Given the description of an element on the screen output the (x, y) to click on. 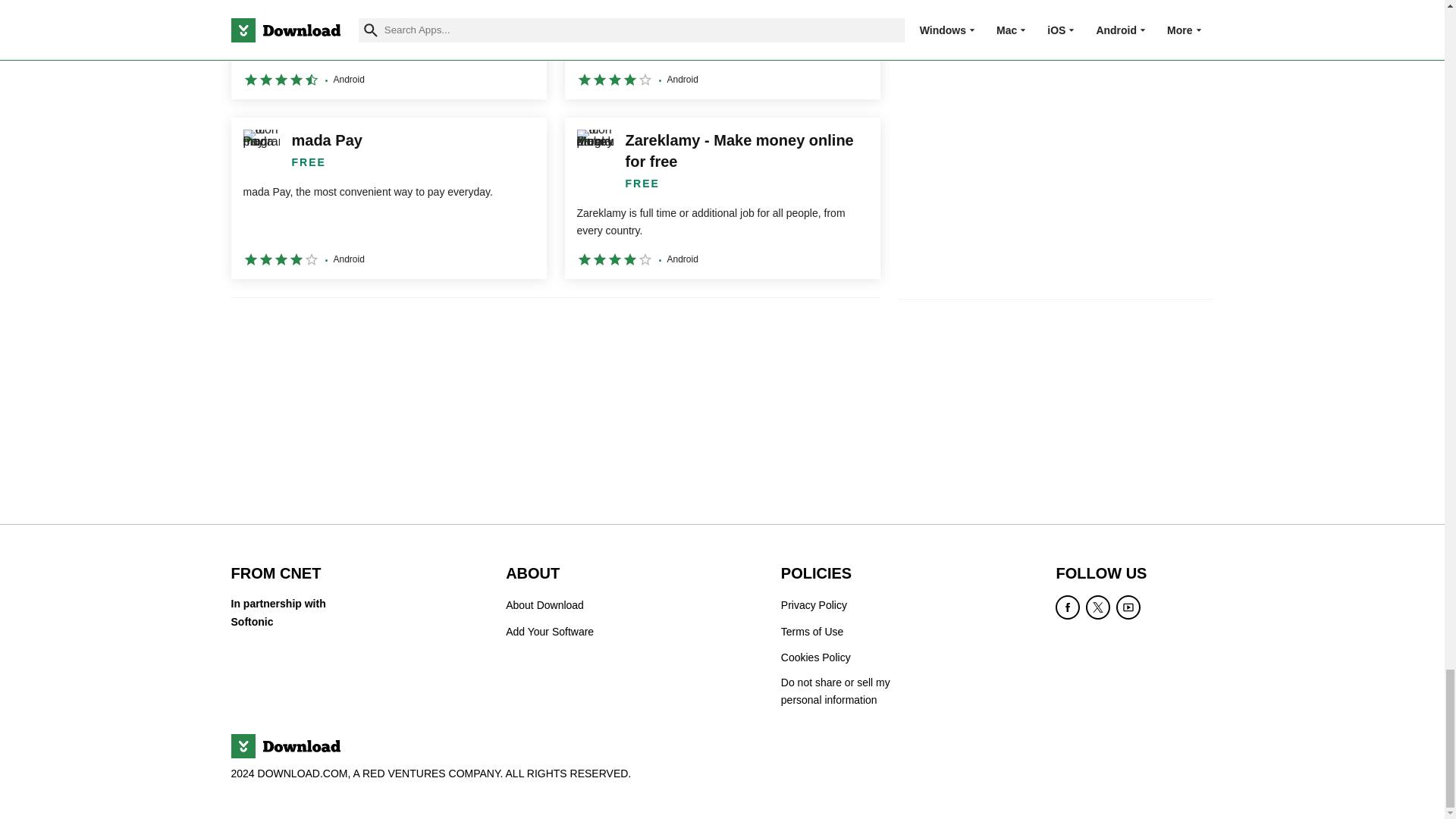
OPay (388, 49)
Download.com (284, 745)
Become a Facebook fan of Download.com (1067, 607)
Zareklamy - Make money online for free (721, 198)
mada Pay (388, 198)
Zelle (721, 49)
